Given the description of an element on the screen output the (x, y) to click on. 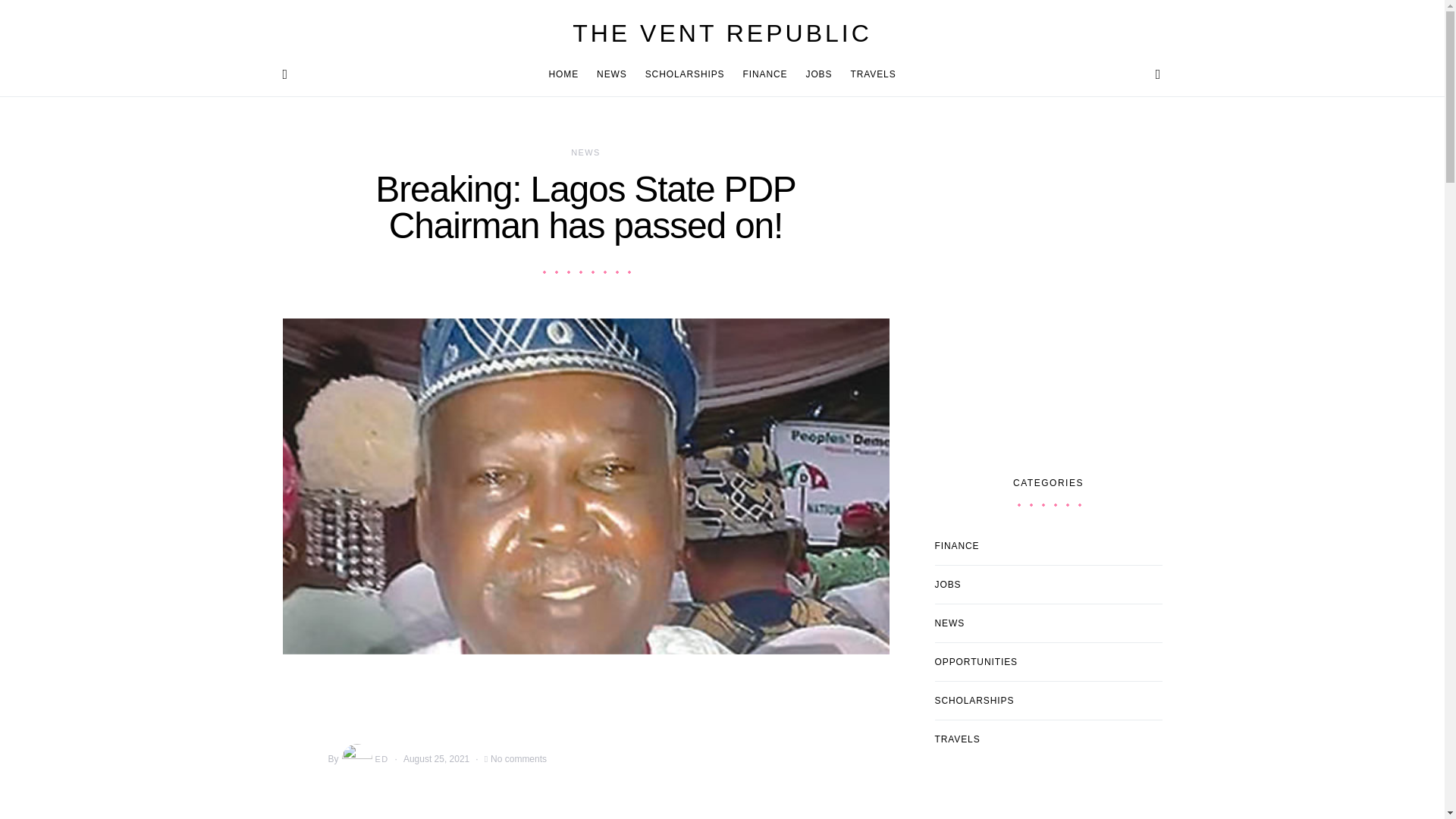
THE VENT REPUBLIC (722, 33)
JOBS (818, 74)
View all posts by ED (363, 758)
NEWS (612, 74)
TRAVELS (868, 74)
HOME (568, 74)
FINANCE (764, 74)
ED (363, 758)
SCHOLARSHIPS (684, 74)
NEWS (584, 152)
No comments (518, 758)
